Given the description of an element on the screen output the (x, y) to click on. 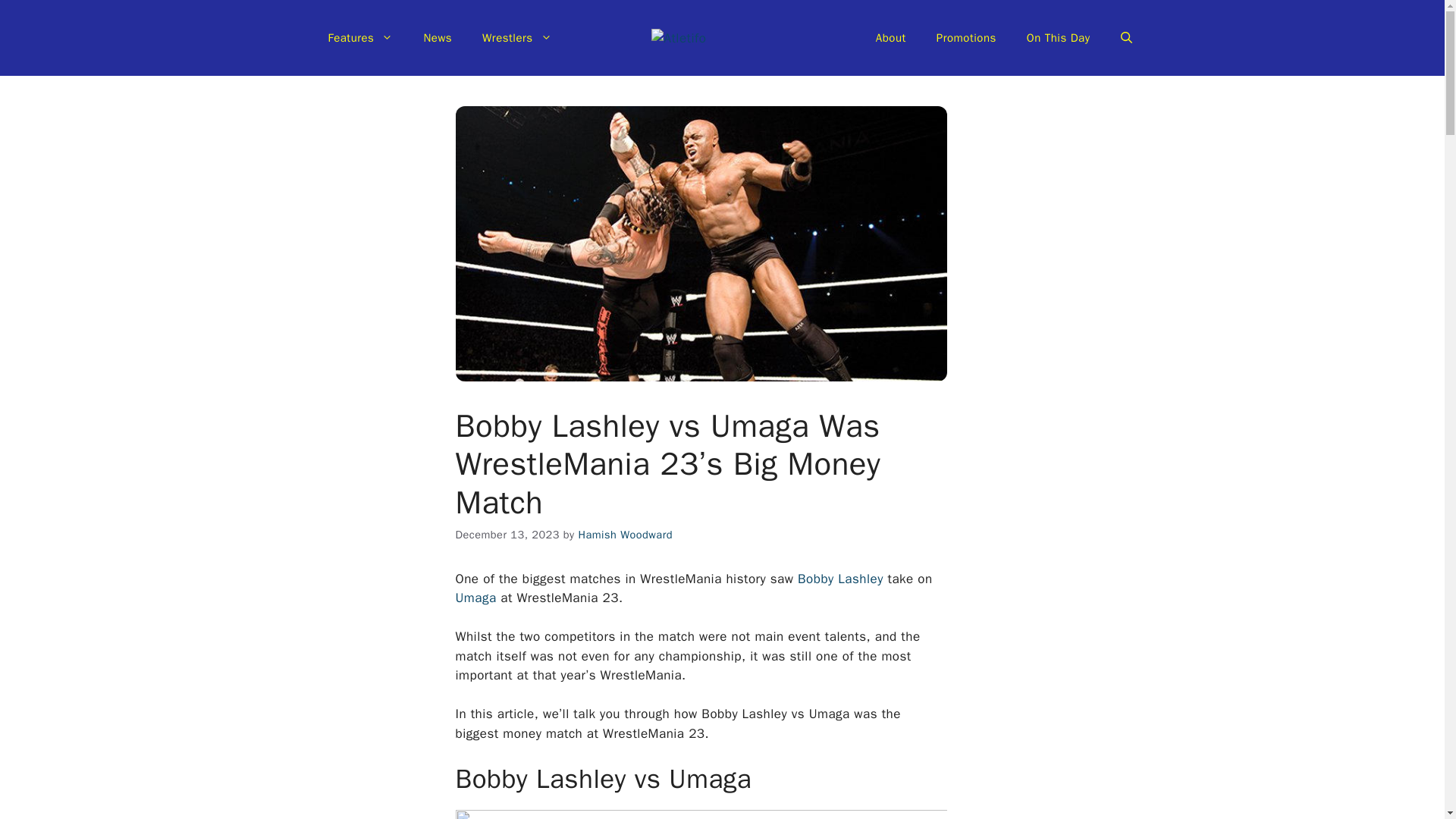
View all posts by Hamish Woodward (625, 534)
Bobby Lashley (840, 578)
Promotions (966, 37)
About (890, 37)
On This Day (1058, 37)
Features (360, 37)
Hamish Woodward (625, 534)
Umaga (477, 597)
Wrestlers (517, 37)
News (437, 37)
